Given the description of an element on the screen output the (x, y) to click on. 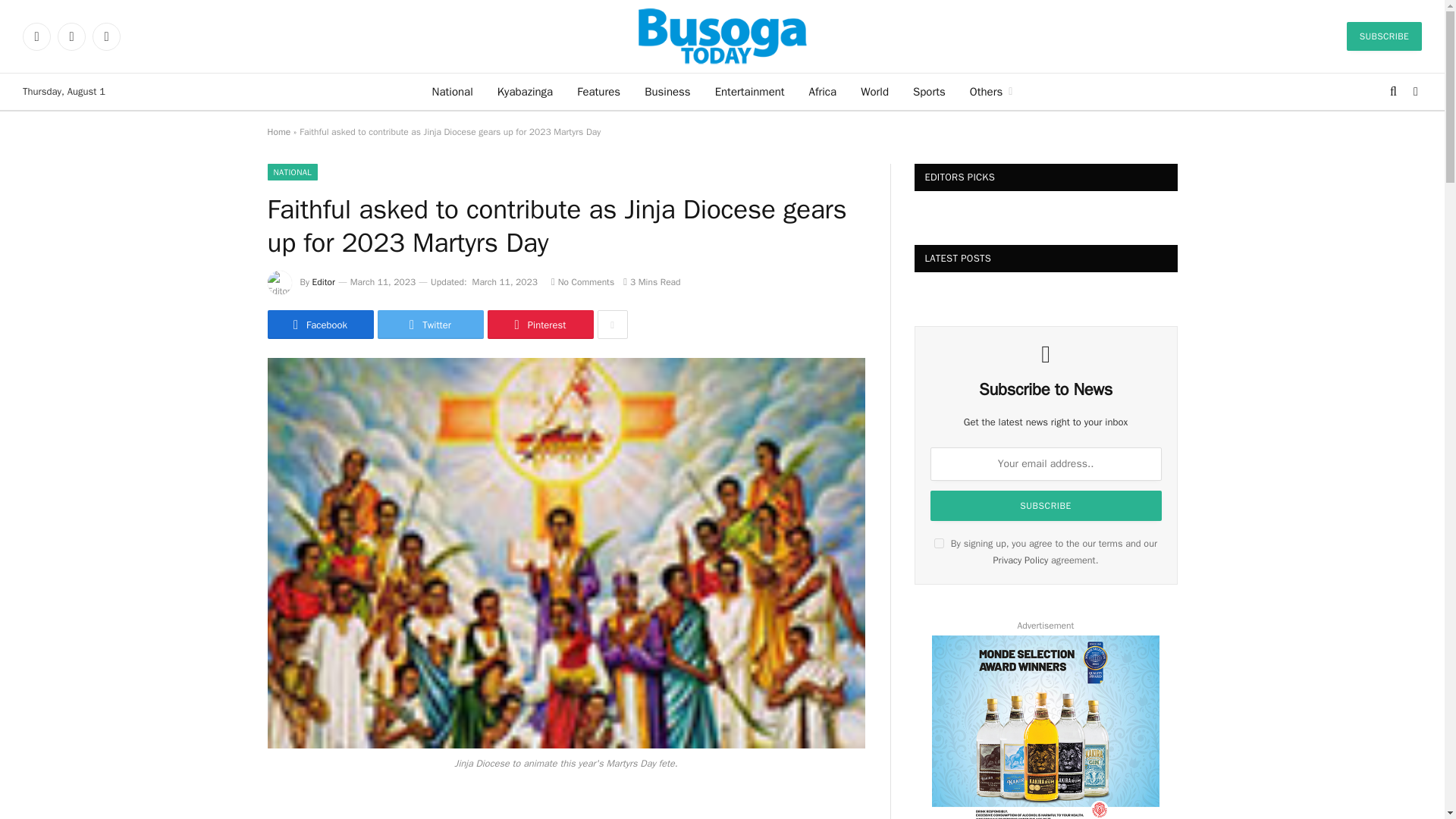
Facebook (36, 36)
Twitter (71, 36)
NATIONAL (291, 171)
Share on Twitter (430, 324)
Posts by Editor (323, 282)
Business (667, 91)
SUBSCRIBE (1384, 36)
Sports (929, 91)
Home (277, 132)
World (874, 91)
